Given the description of an element on the screen output the (x, y) to click on. 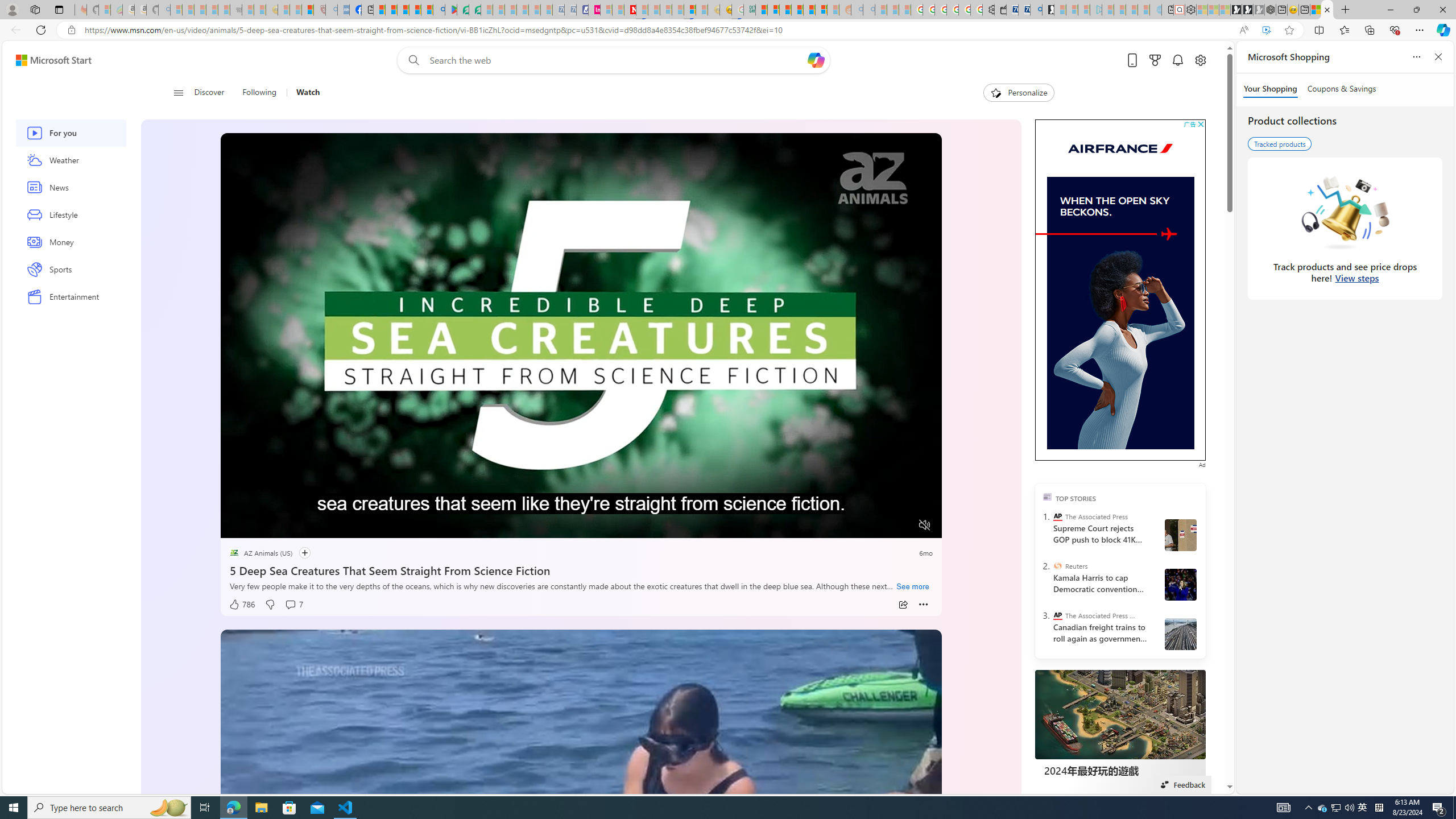
Progress Bar (581, 510)
 Canada Railroads Unions (1180, 634)
Quality Settings (857, 525)
Fullscreen (902, 525)
Microsoft Start Gaming (1047, 9)
